Given the description of an element on the screen output the (x, y) to click on. 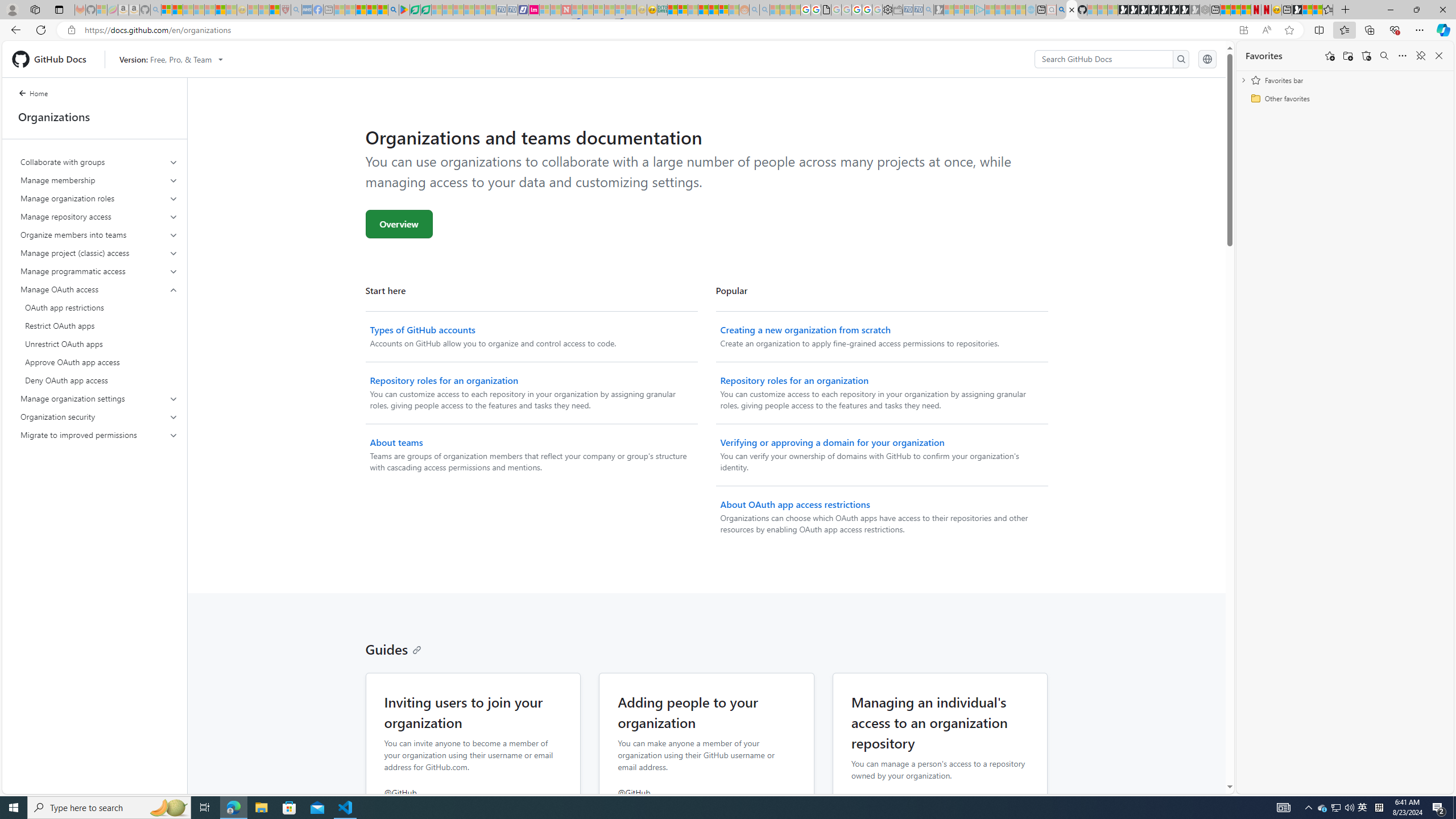
Search GitHub Docs (1104, 58)
Organization security (99, 416)
Add folder (1347, 55)
Collaborate with groups (99, 162)
Organization security (99, 416)
Manage project (classic) access (99, 253)
